Given the description of an element on the screen output the (x, y) to click on. 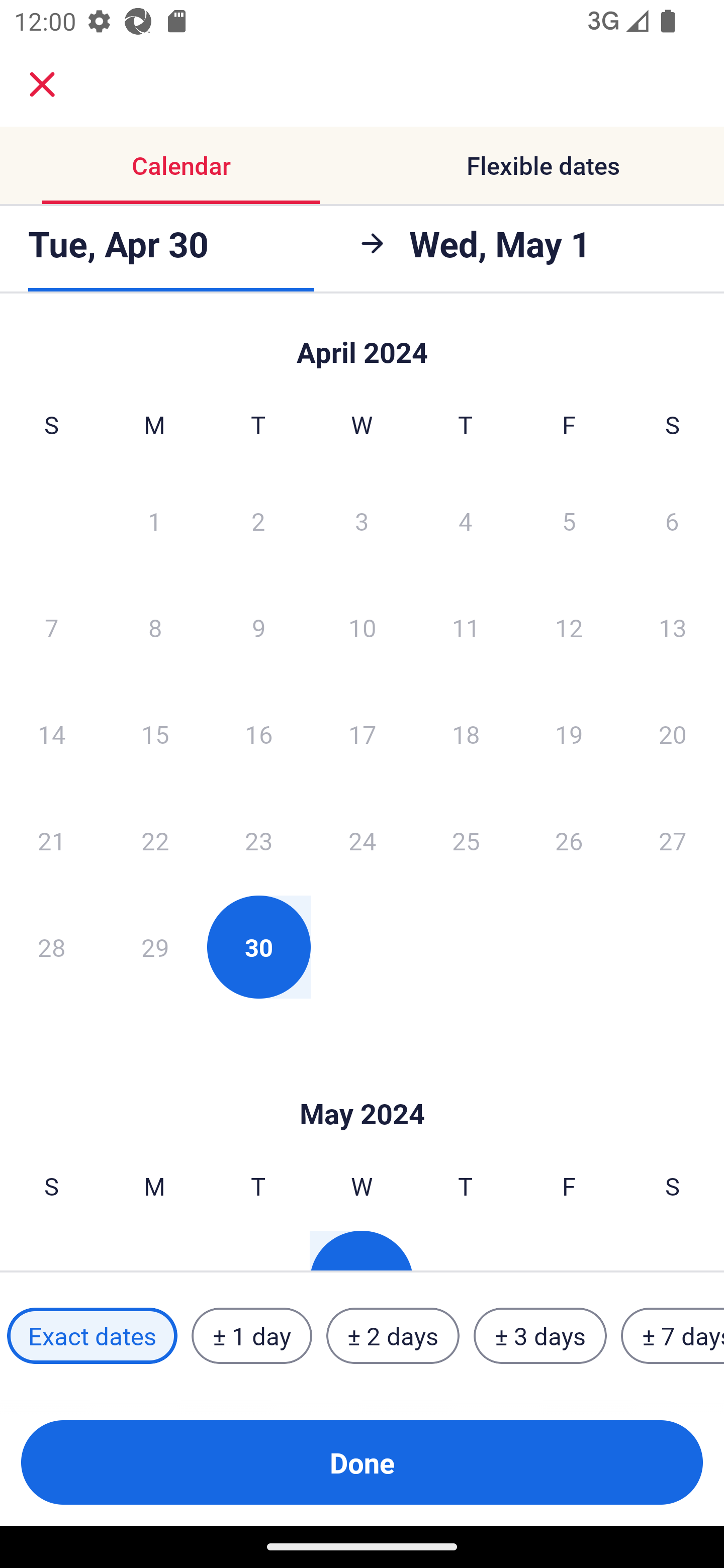
close. (42, 84)
Flexible dates (542, 164)
Skip to Done (362, 343)
1 Monday, April 1, 2024 (154, 520)
2 Tuesday, April 2, 2024 (257, 520)
3 Wednesday, April 3, 2024 (361, 520)
4 Thursday, April 4, 2024 (465, 520)
5 Friday, April 5, 2024 (568, 520)
6 Saturday, April 6, 2024 (672, 520)
7 Sunday, April 7, 2024 (51, 626)
8 Monday, April 8, 2024 (155, 626)
9 Tuesday, April 9, 2024 (258, 626)
10 Wednesday, April 10, 2024 (362, 626)
11 Thursday, April 11, 2024 (465, 626)
12 Friday, April 12, 2024 (569, 626)
13 Saturday, April 13, 2024 (672, 626)
14 Sunday, April 14, 2024 (51, 733)
15 Monday, April 15, 2024 (155, 733)
16 Tuesday, April 16, 2024 (258, 733)
17 Wednesday, April 17, 2024 (362, 733)
18 Thursday, April 18, 2024 (465, 733)
19 Friday, April 19, 2024 (569, 733)
20 Saturday, April 20, 2024 (672, 733)
21 Sunday, April 21, 2024 (51, 840)
22 Monday, April 22, 2024 (155, 840)
23 Tuesday, April 23, 2024 (258, 840)
24 Wednesday, April 24, 2024 (362, 840)
25 Thursday, April 25, 2024 (465, 840)
26 Friday, April 26, 2024 (569, 840)
27 Saturday, April 27, 2024 (672, 840)
28 Sunday, April 28, 2024 (51, 946)
29 Monday, April 29, 2024 (155, 946)
Skip to Done (362, 1083)
Exact dates (92, 1335)
± 1 day (251, 1335)
± 2 days (392, 1335)
± 3 days (539, 1335)
± 7 days (672, 1335)
Done (361, 1462)
